Given the description of an element on the screen output the (x, y) to click on. 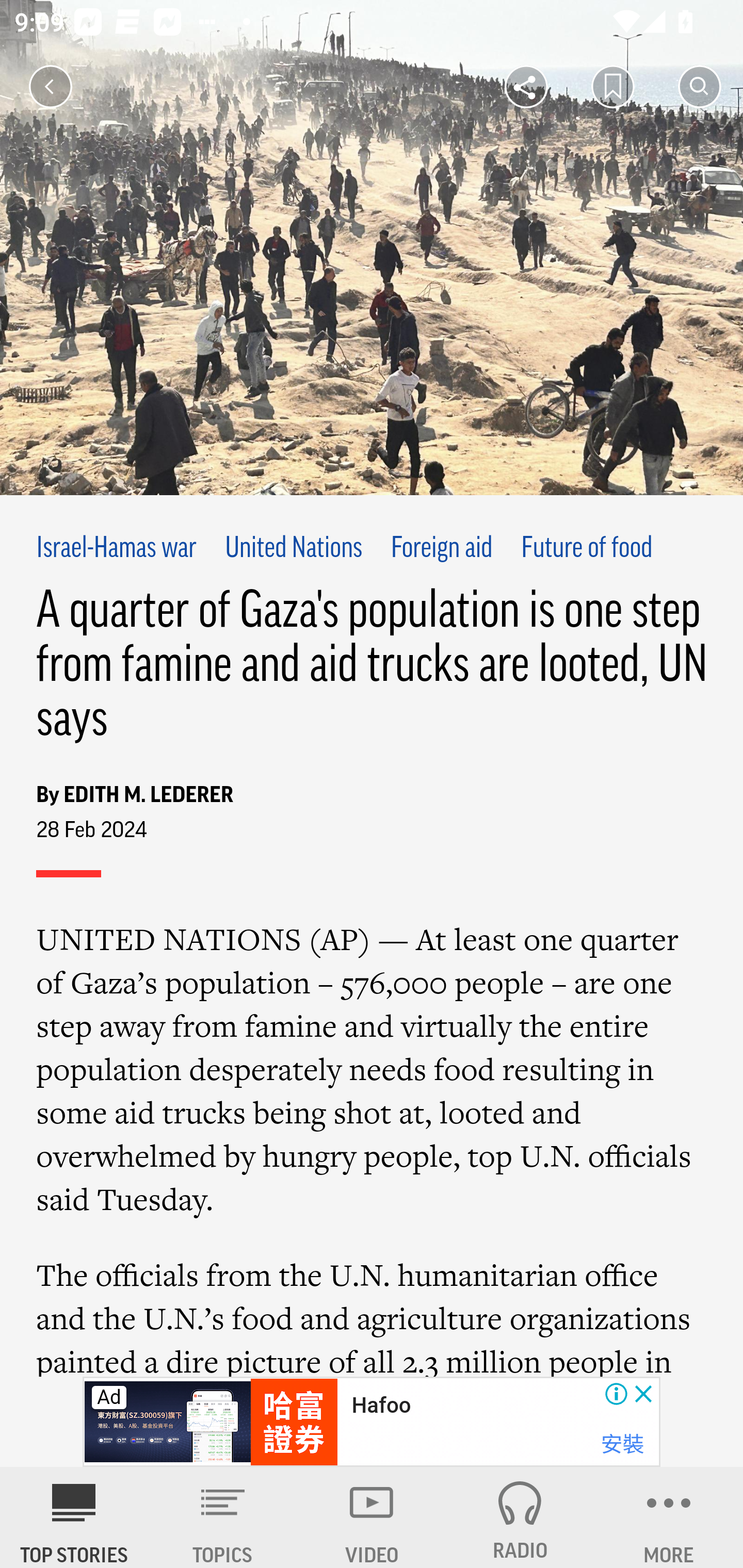
Israel-Hamas war (117, 549)
United Nations (292, 549)
Foreign aid (441, 549)
Future of food (586, 549)
Hafoo (381, 1405)
安裝 (621, 1444)
AP News TOP STORIES (74, 1517)
TOPICS (222, 1517)
VIDEO (371, 1517)
RADIO (519, 1517)
MORE (668, 1517)
